Given the description of an element on the screen output the (x, y) to click on. 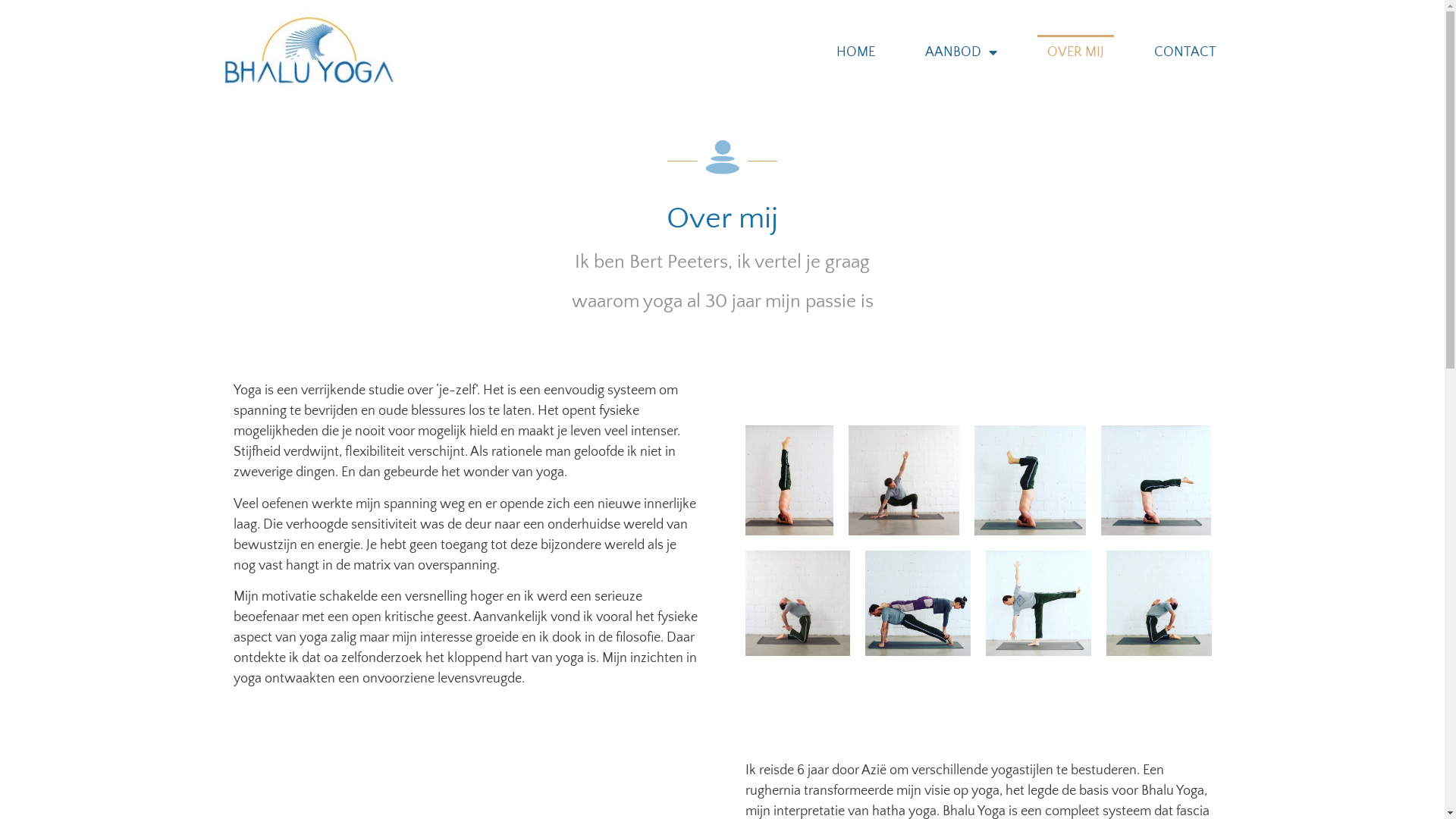
AANBOD Element type: text (961, 51)
CONTACT Element type: text (1185, 51)
OVER MIJ Element type: text (1075, 51)
HOME Element type: text (855, 51)
